Given the description of an element on the screen output the (x, y) to click on. 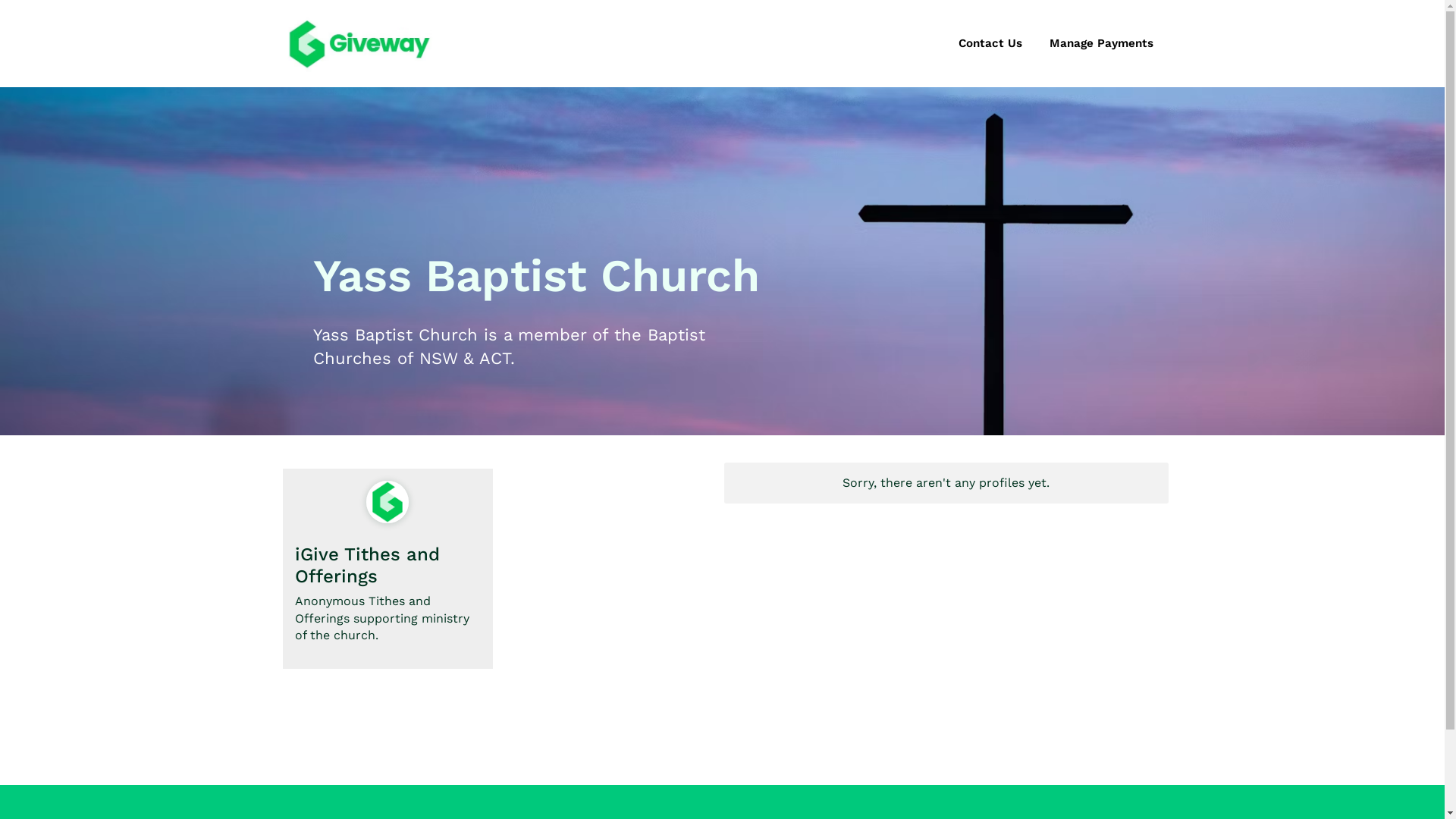
Contact Us Element type: text (990, 43)
Manage Payments Element type: text (1101, 43)
